Given the description of an element on the screen output the (x, y) to click on. 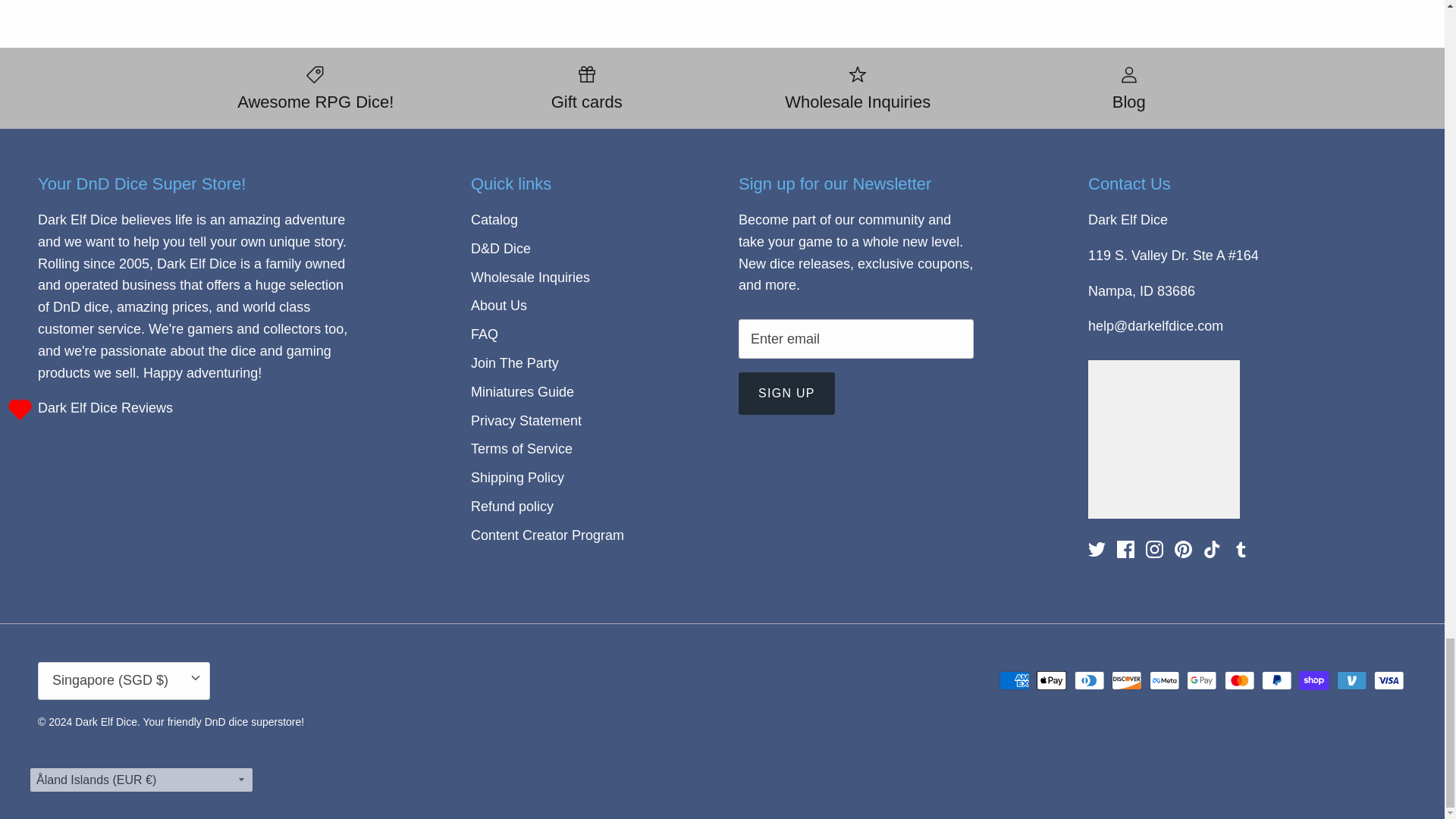
Facebook (1125, 548)
Pinterest (1183, 548)
Instagram (1154, 548)
Twitter (1096, 548)
American Express (1013, 680)
